Given the description of an element on the screen output the (x, y) to click on. 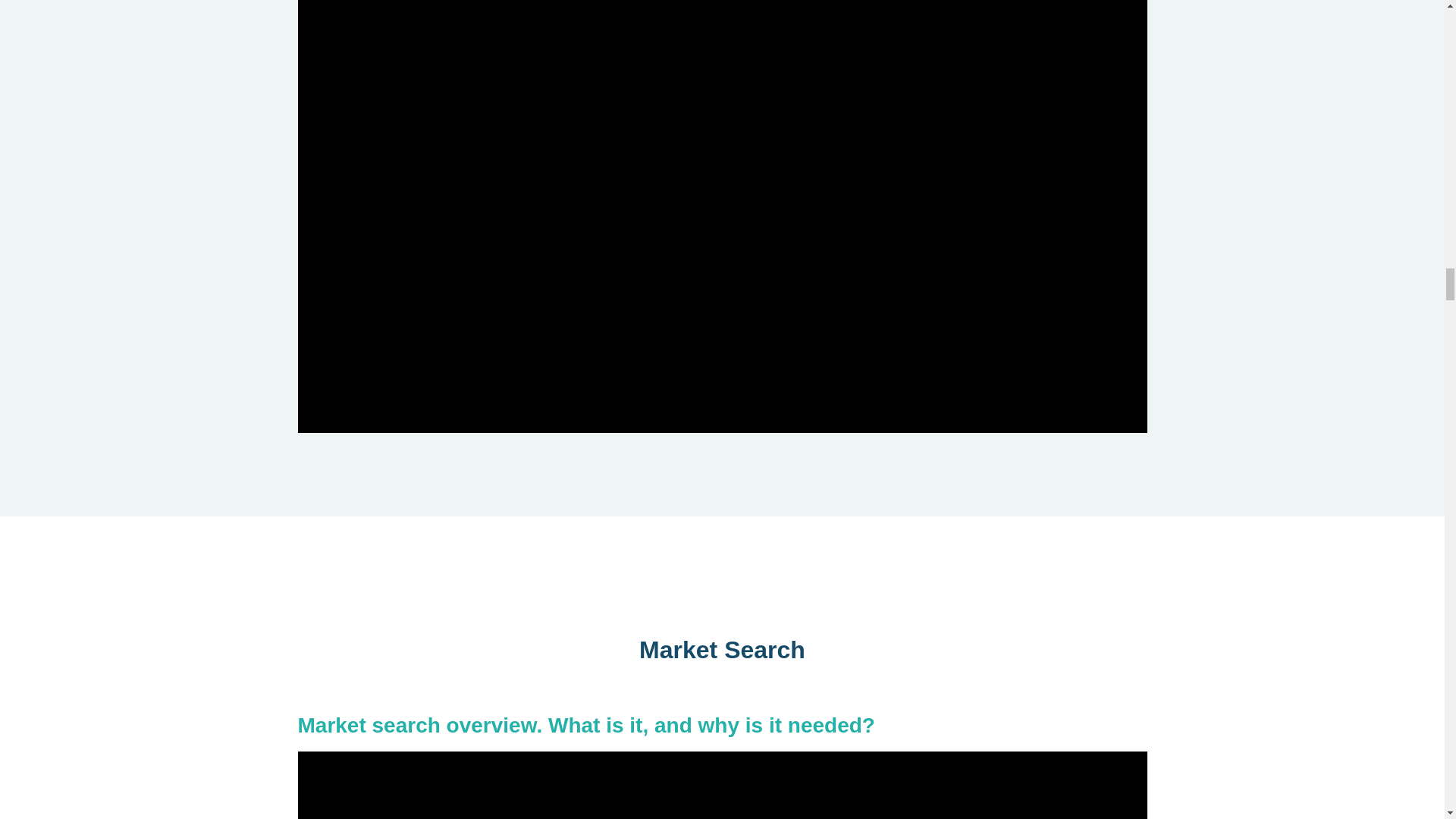
vimeo Video Player (722, 785)
